Given the description of an element on the screen output the (x, y) to click on. 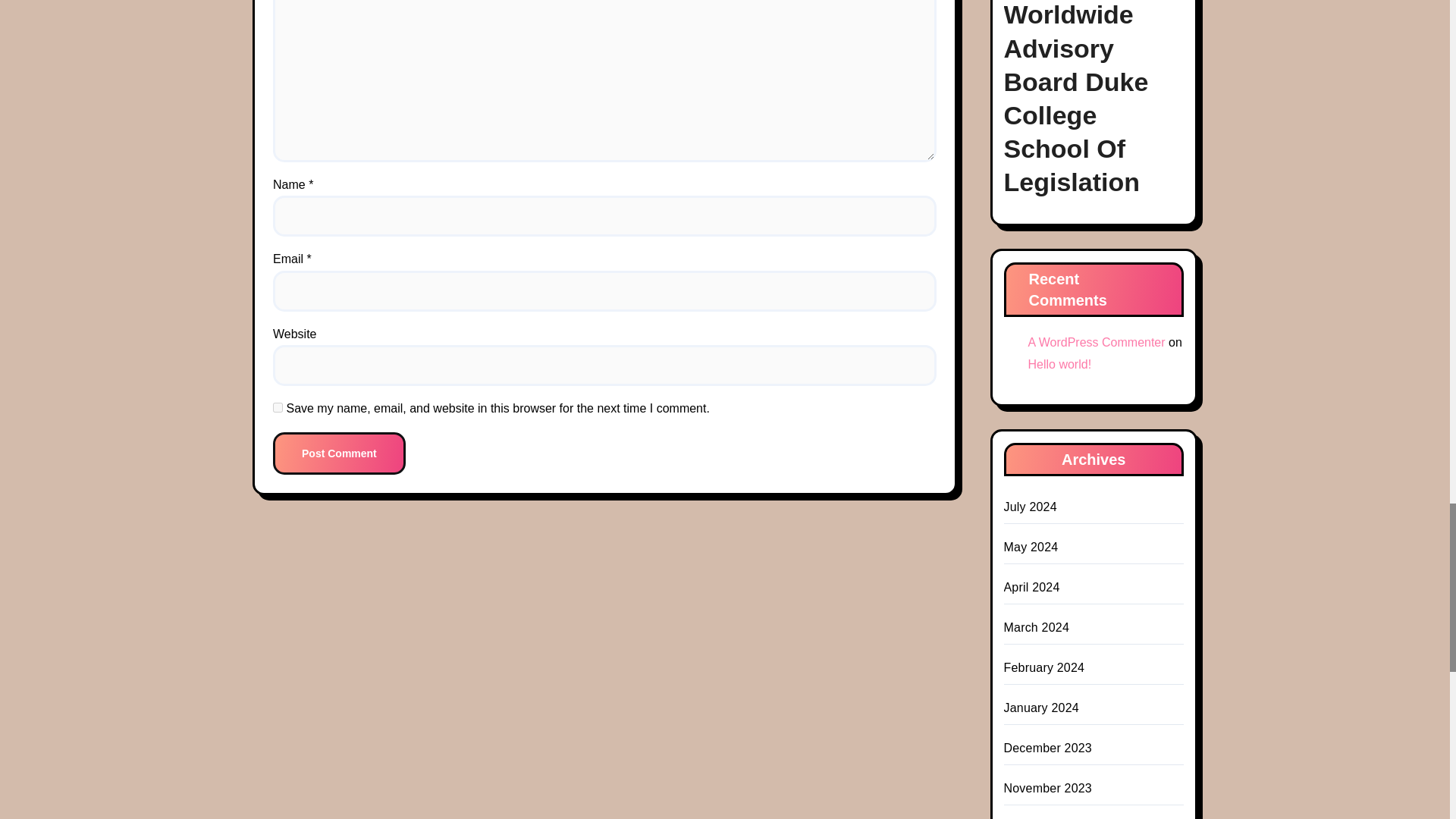
Post Comment (339, 453)
yes (277, 407)
